Given the description of an element on the screen output the (x, y) to click on. 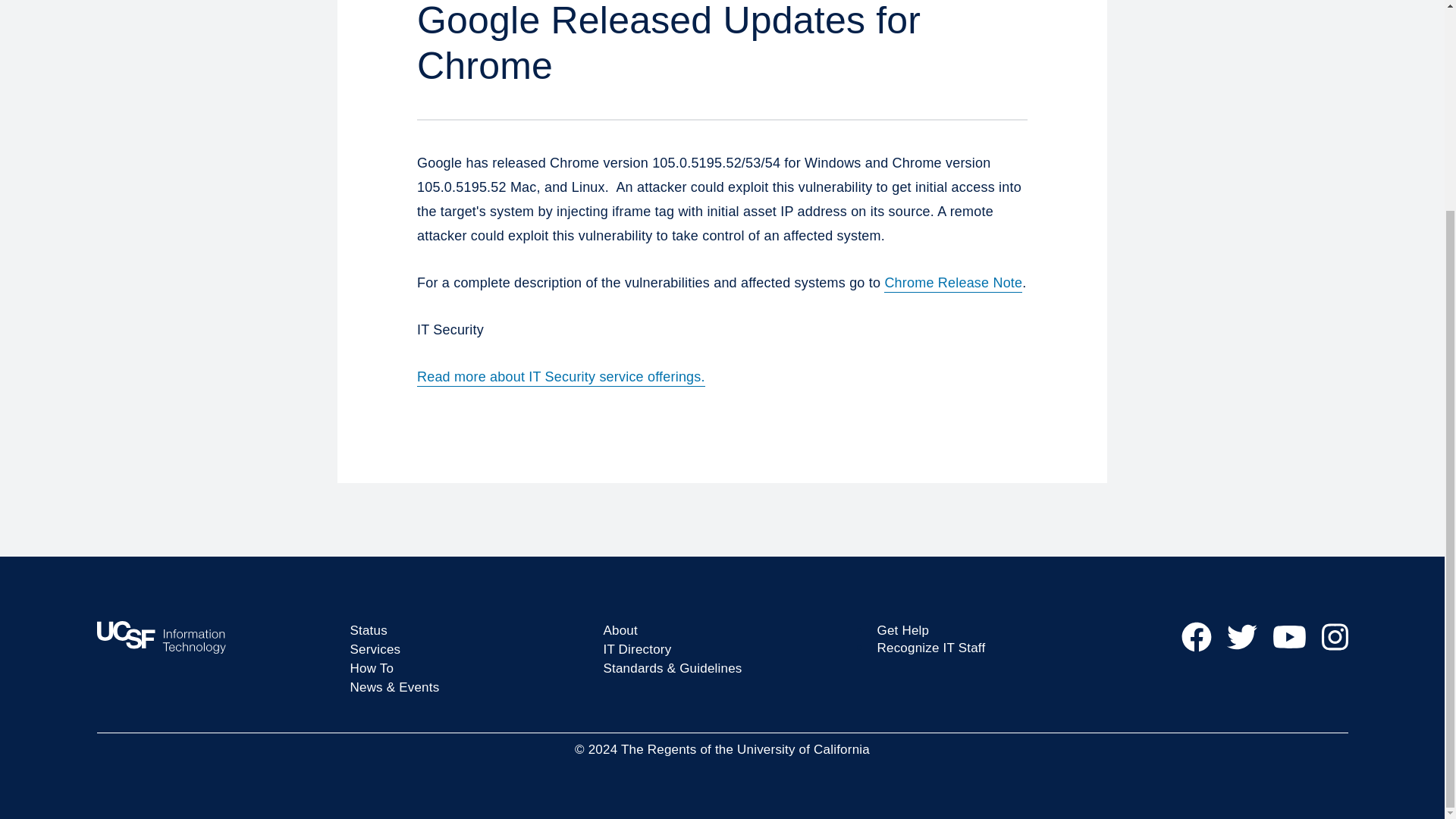
How To (372, 667)
Services (375, 649)
IT Directory (637, 649)
Chrome Release Note (952, 282)
Get Help (902, 630)
About (620, 630)
Recognize IT Staff (930, 647)
Status (368, 630)
Read more about IT Security service offerings. (560, 376)
Home (215, 636)
